Given the description of an element on the screen output the (x, y) to click on. 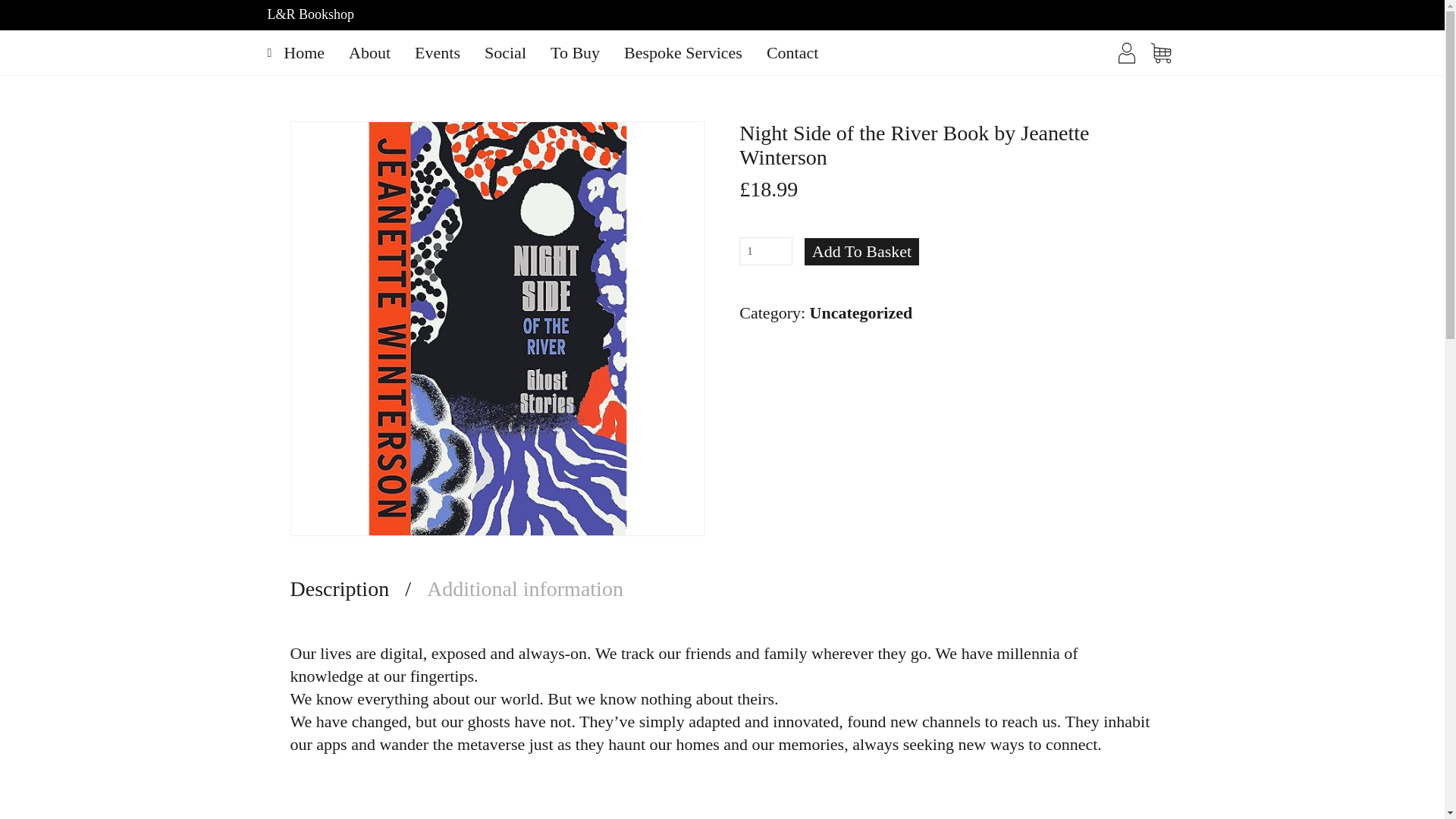
Add To Basket (861, 252)
Description (349, 589)
Home (303, 53)
Events (437, 53)
About (369, 53)
Additional information (516, 589)
Qty (765, 251)
Uncategorized (860, 312)
Bespoke Services (682, 53)
1 (765, 251)
Social (504, 53)
Contact (791, 53)
To Buy (574, 53)
